Given the description of an element on the screen output the (x, y) to click on. 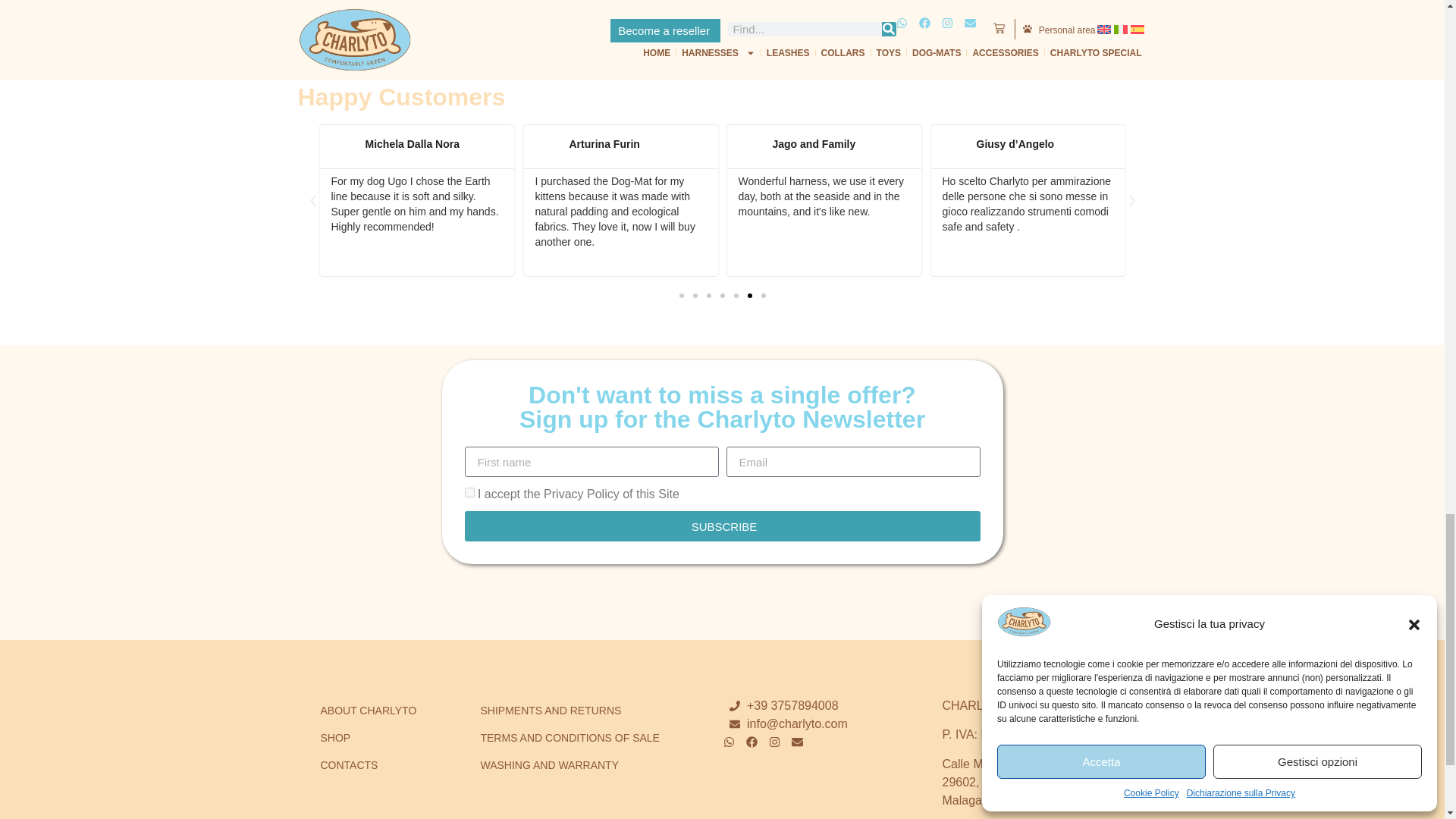
on (469, 492)
